Given the description of an element on the screen output the (x, y) to click on. 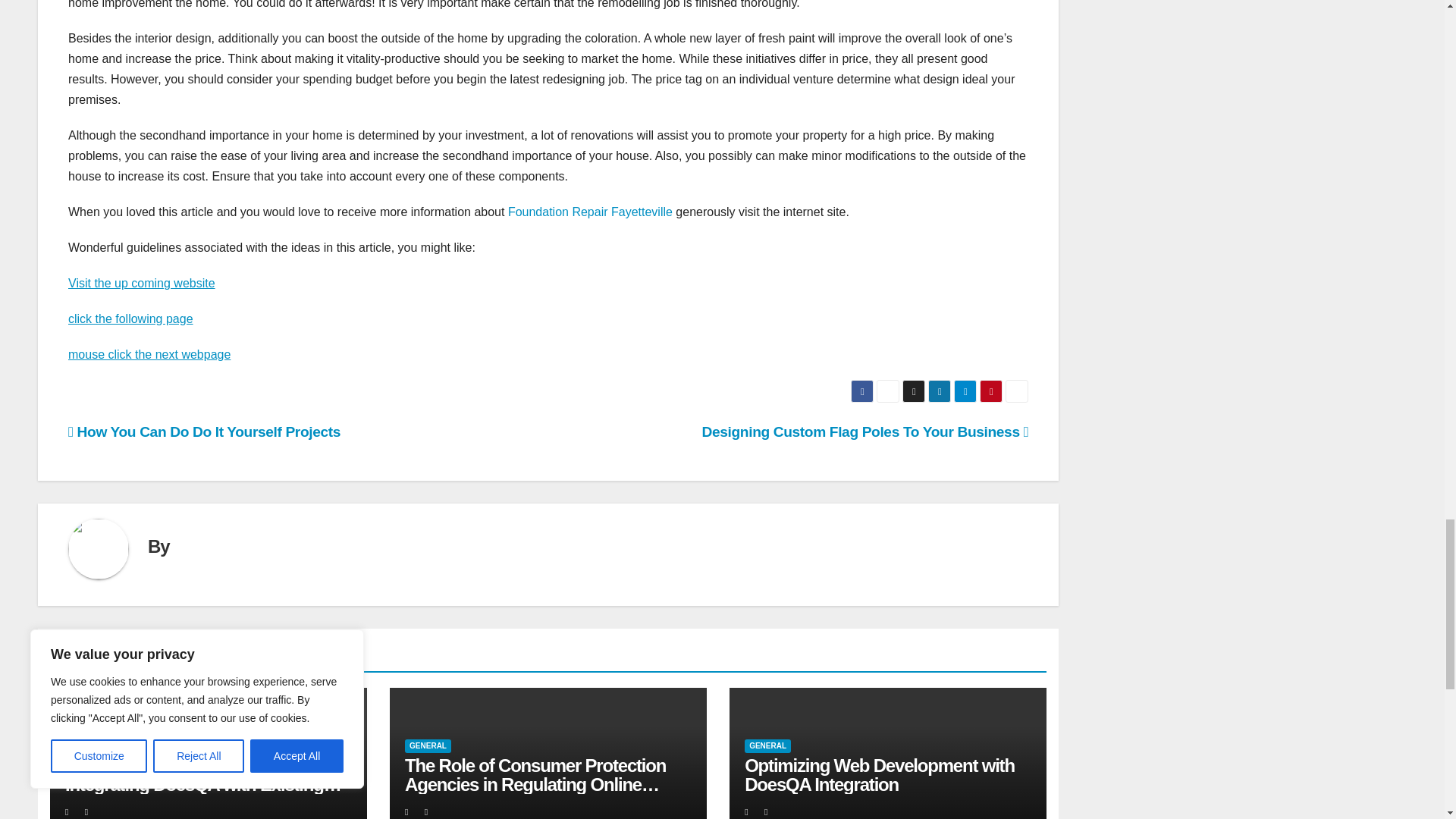
mouse click the next webpage (149, 354)
Visit the up coming website (141, 282)
click the following page (130, 318)
Foundation Repair Fayetteville (590, 211)
